Given the description of an element on the screen output the (x, y) to click on. 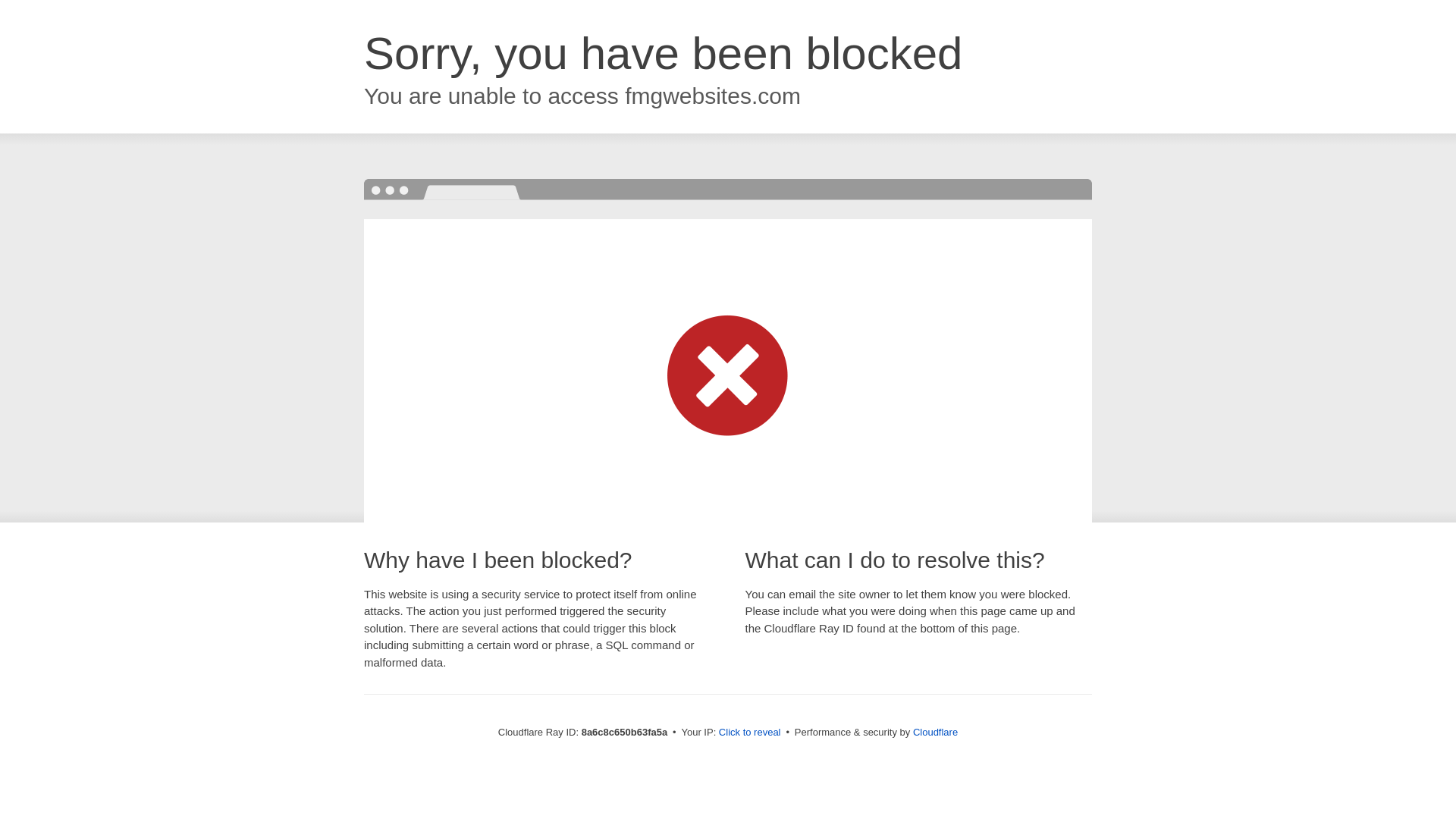
Click to reveal (749, 732)
Cloudflare (935, 731)
